Given the description of an element on the screen output the (x, y) to click on. 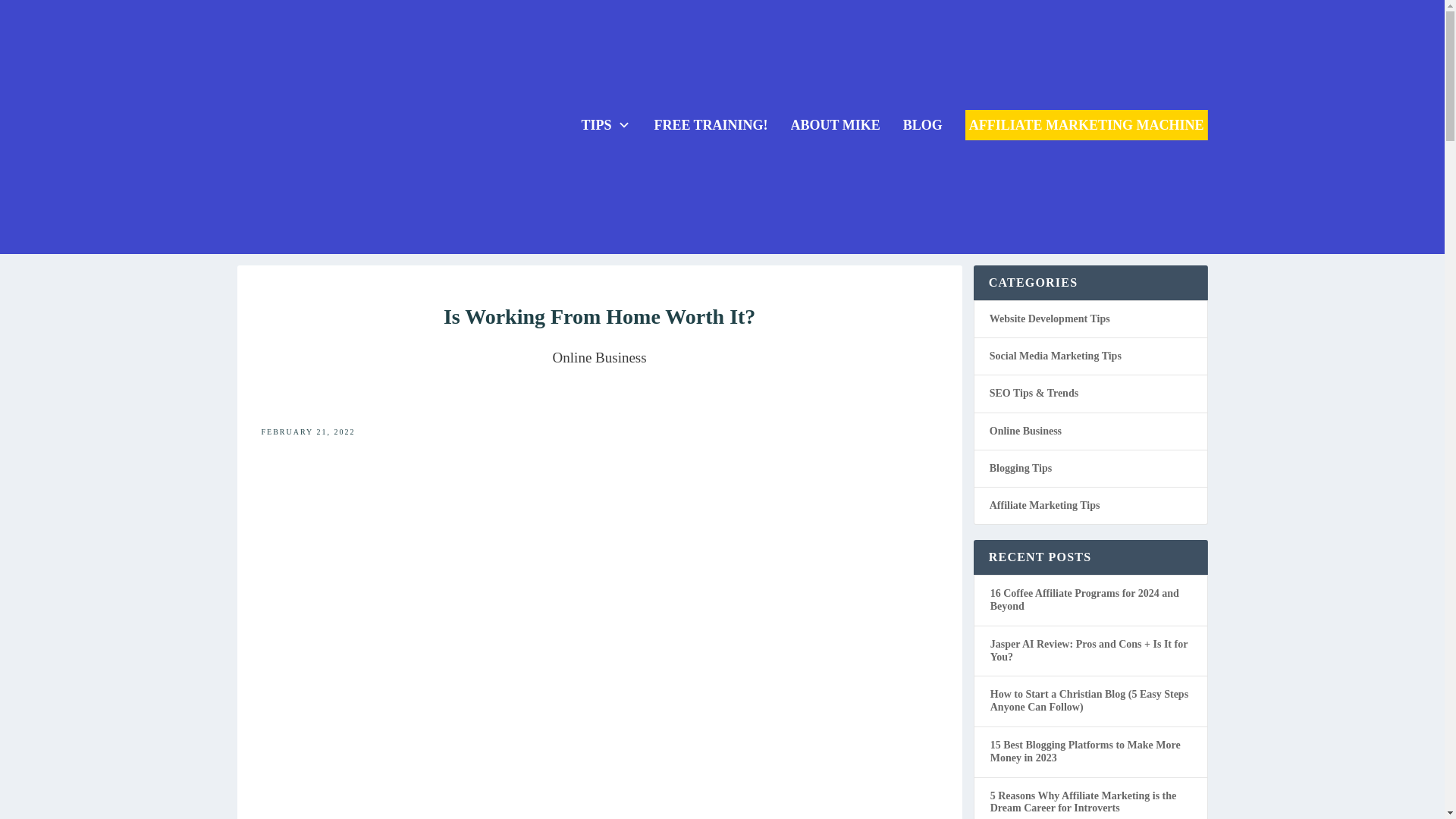
Blogging Tips (1020, 468)
15 Best Blogging Platforms to Make More Money in 2023 (1085, 751)
Online Business (599, 357)
BLOG (922, 124)
Online Business (599, 357)
ABOUT MIKE (835, 124)
Social Media Marketing Tips (1055, 356)
TIPS (605, 124)
Affiliate Marketing Tips (1045, 505)
